Given the description of an element on the screen output the (x, y) to click on. 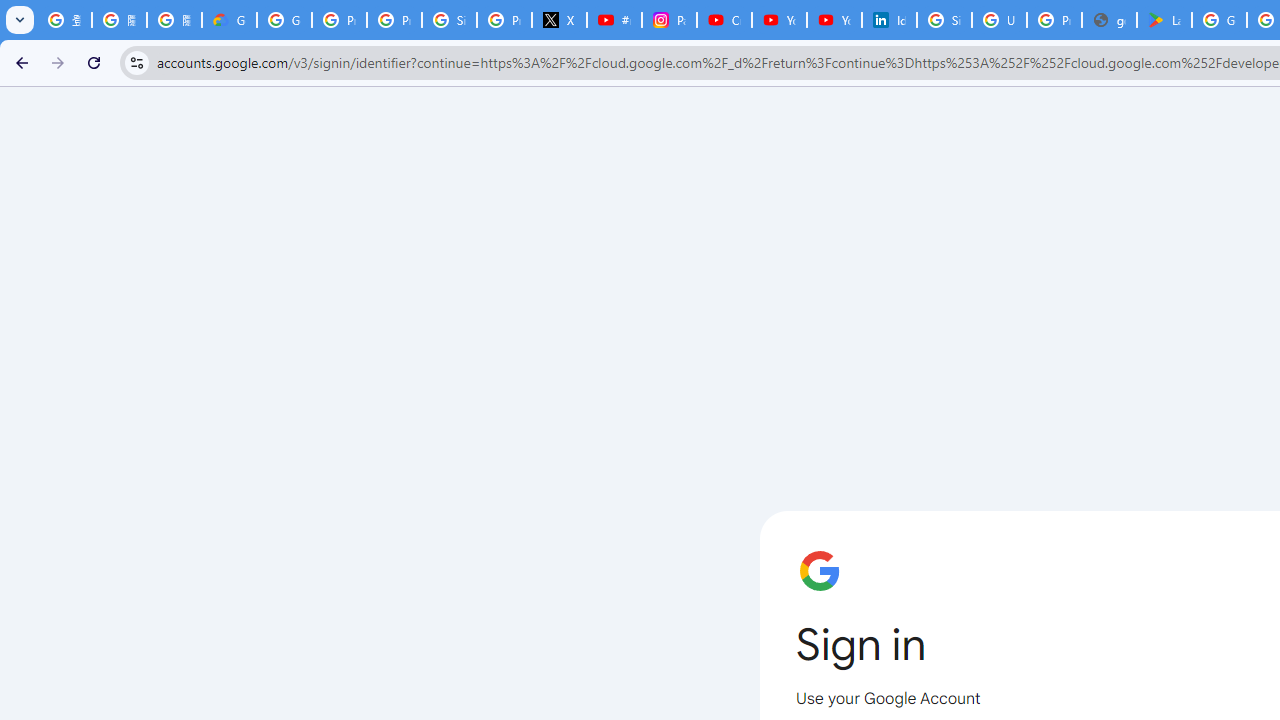
Privacy Help Center - Policies Help (394, 20)
YouTube Culture & Trends - YouTube Top 10, 2021 (833, 20)
#nbabasketballhighlights - YouTube (614, 20)
Google Cloud Privacy Notice (229, 20)
